Given the description of an element on the screen output the (x, y) to click on. 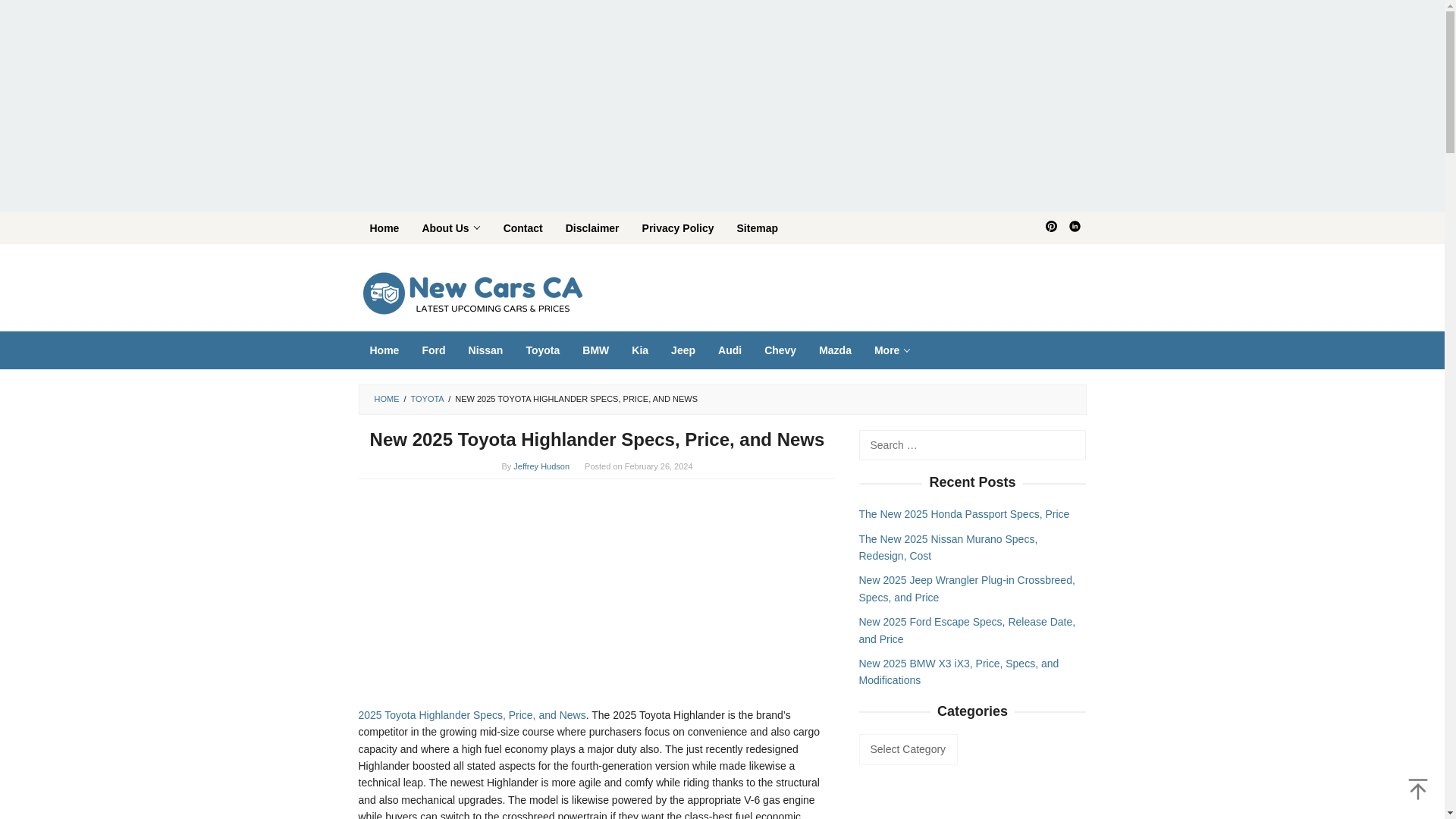
Permalink to: Jeffrey Hudson (541, 465)
BMW (595, 350)
Privacy Policy (677, 228)
More (892, 350)
Disclaimer (592, 228)
HOME (386, 398)
Contact (523, 228)
2025 Toyota Highlander Specs, Price, and News (471, 715)
Nissan (486, 350)
Ford (433, 350)
Audi (729, 350)
Chevy (780, 350)
Sitemap (757, 228)
